Given the description of an element on the screen output the (x, y) to click on. 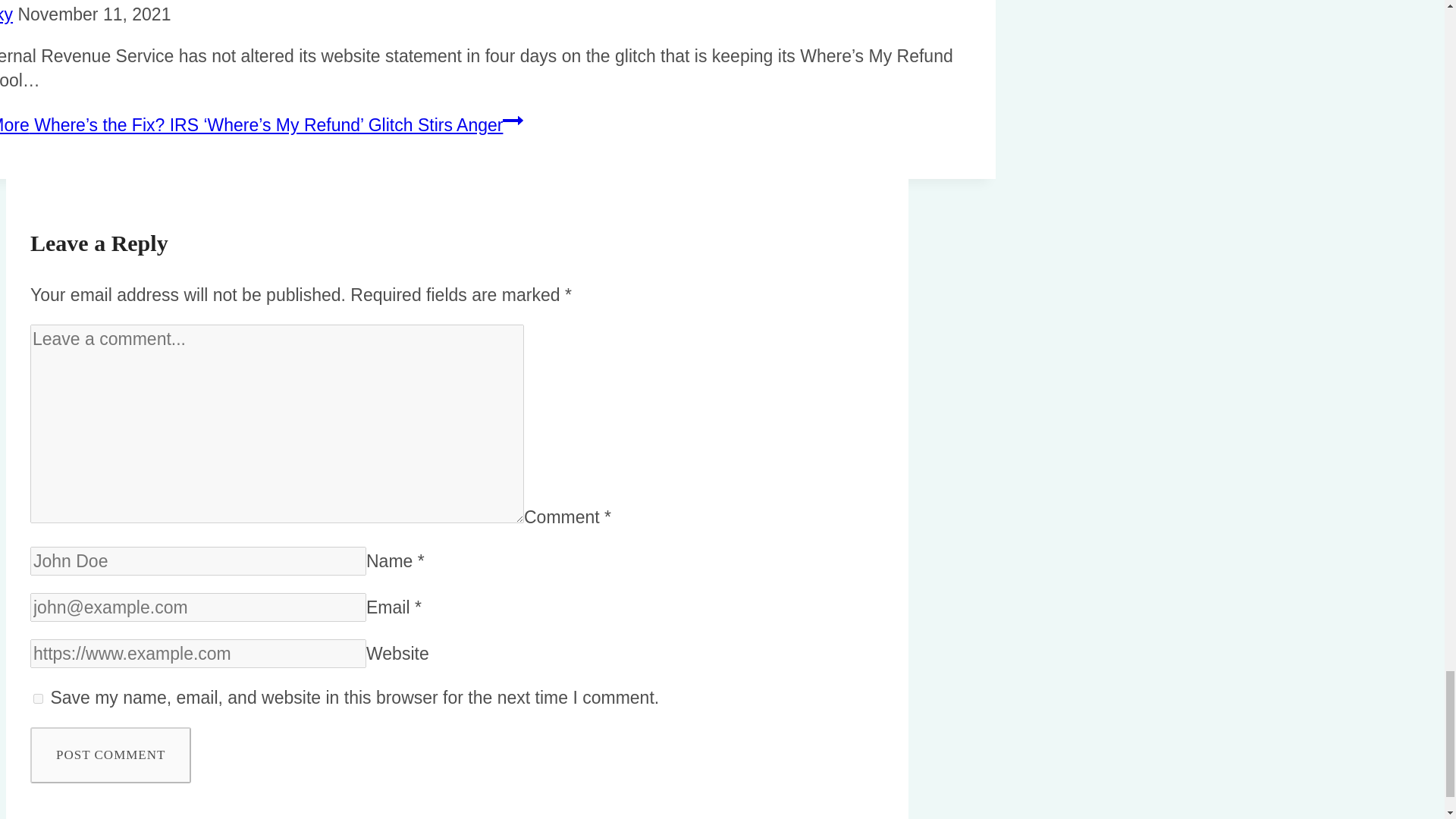
Continue (512, 120)
Post Comment (110, 754)
yes (38, 698)
